Given the description of an element on the screen output the (x, y) to click on. 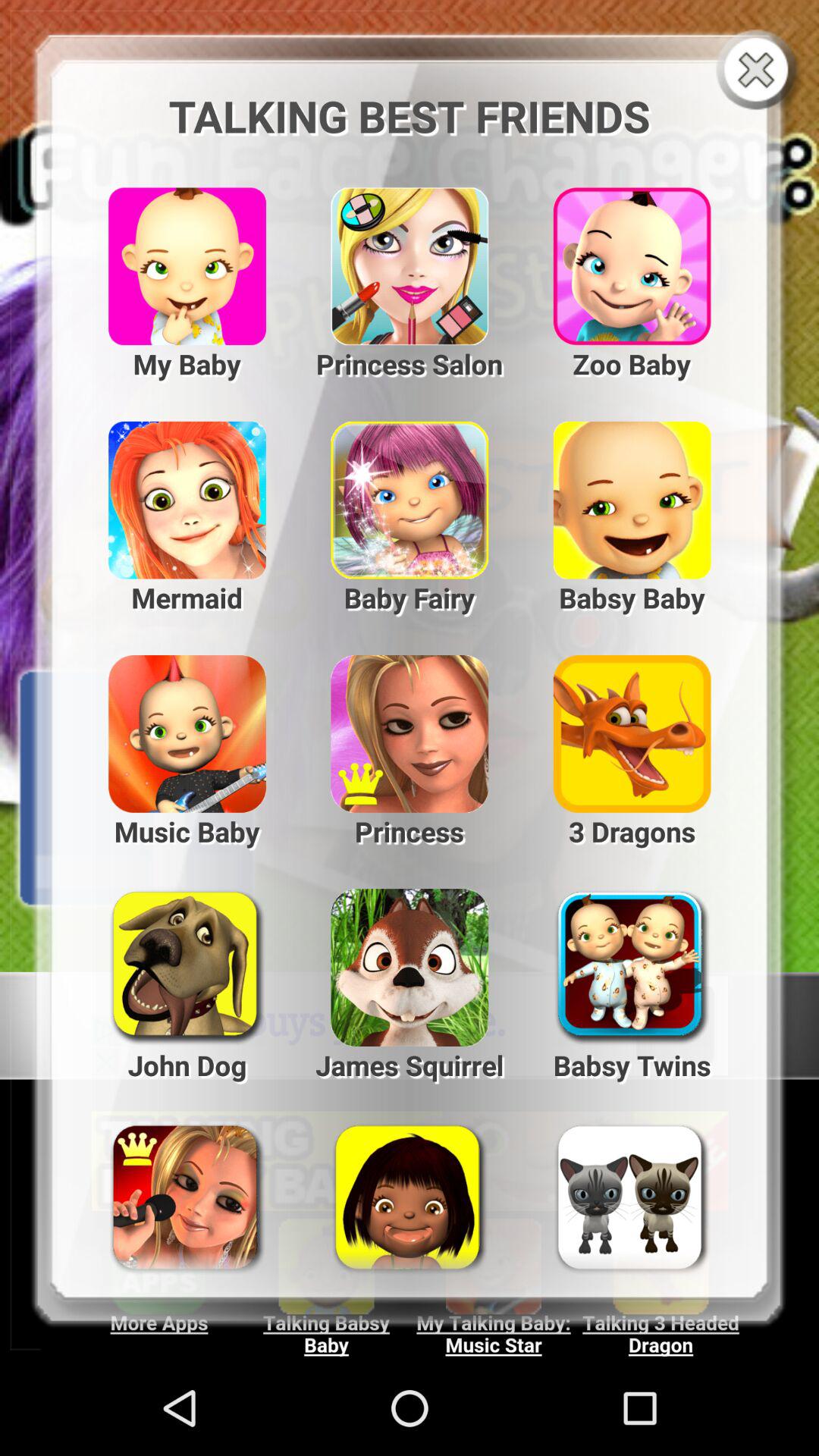
close the pop-up (759, 71)
